Given the description of an element on the screen output the (x, y) to click on. 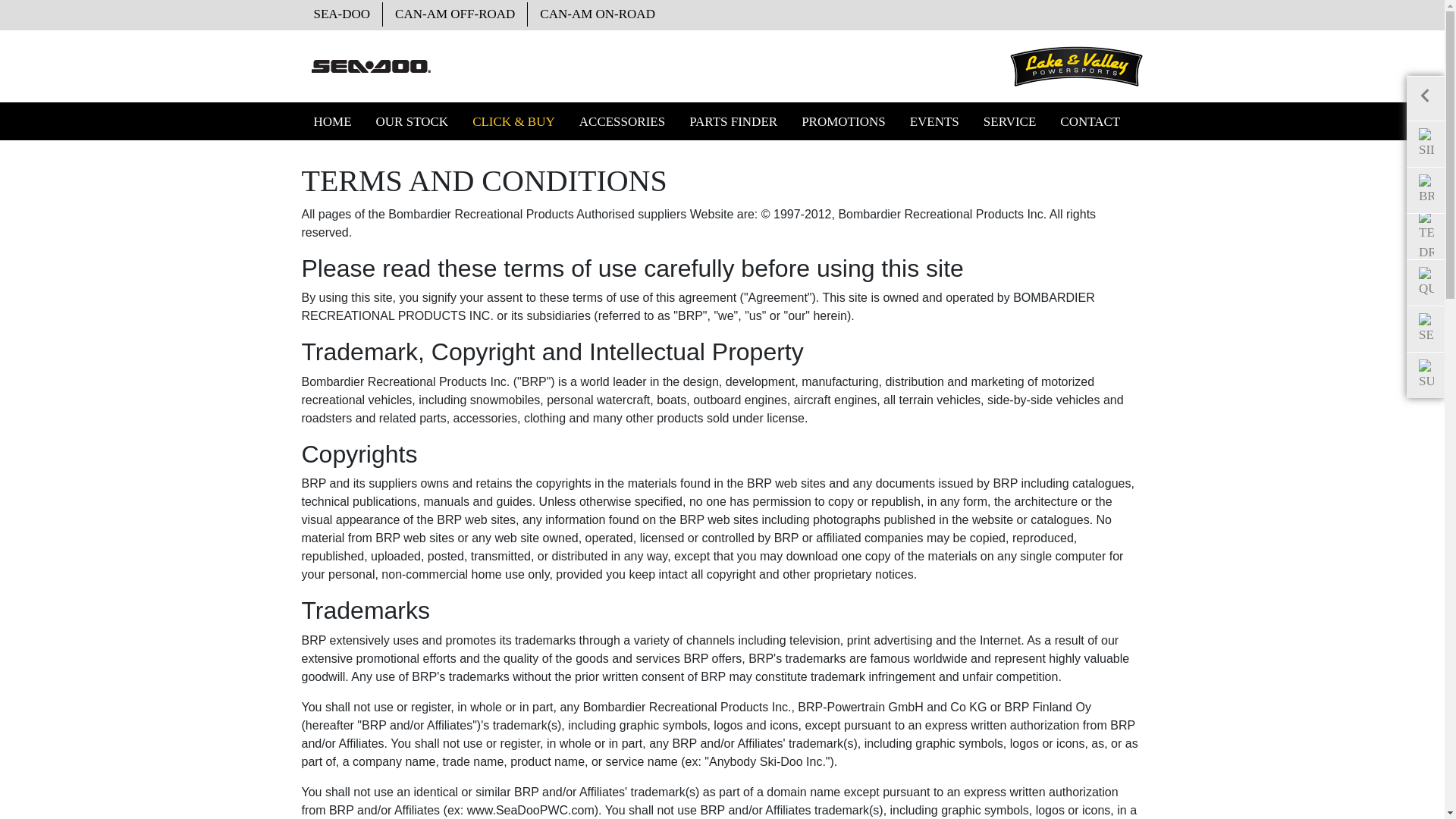
CAN-AM ON-ROAD (597, 13)
SERVICE (1009, 121)
PROMOTIONS (843, 121)
CAN-AM OFF-ROAD (454, 13)
ACCESSORIES (622, 121)
OUR STOCK (412, 121)
HOME (332, 121)
PARTS FINDER (733, 121)
CONTACT (1090, 121)
SEA-DOO (342, 13)
EVENTS (934, 121)
